Given the description of an element on the screen output the (x, y) to click on. 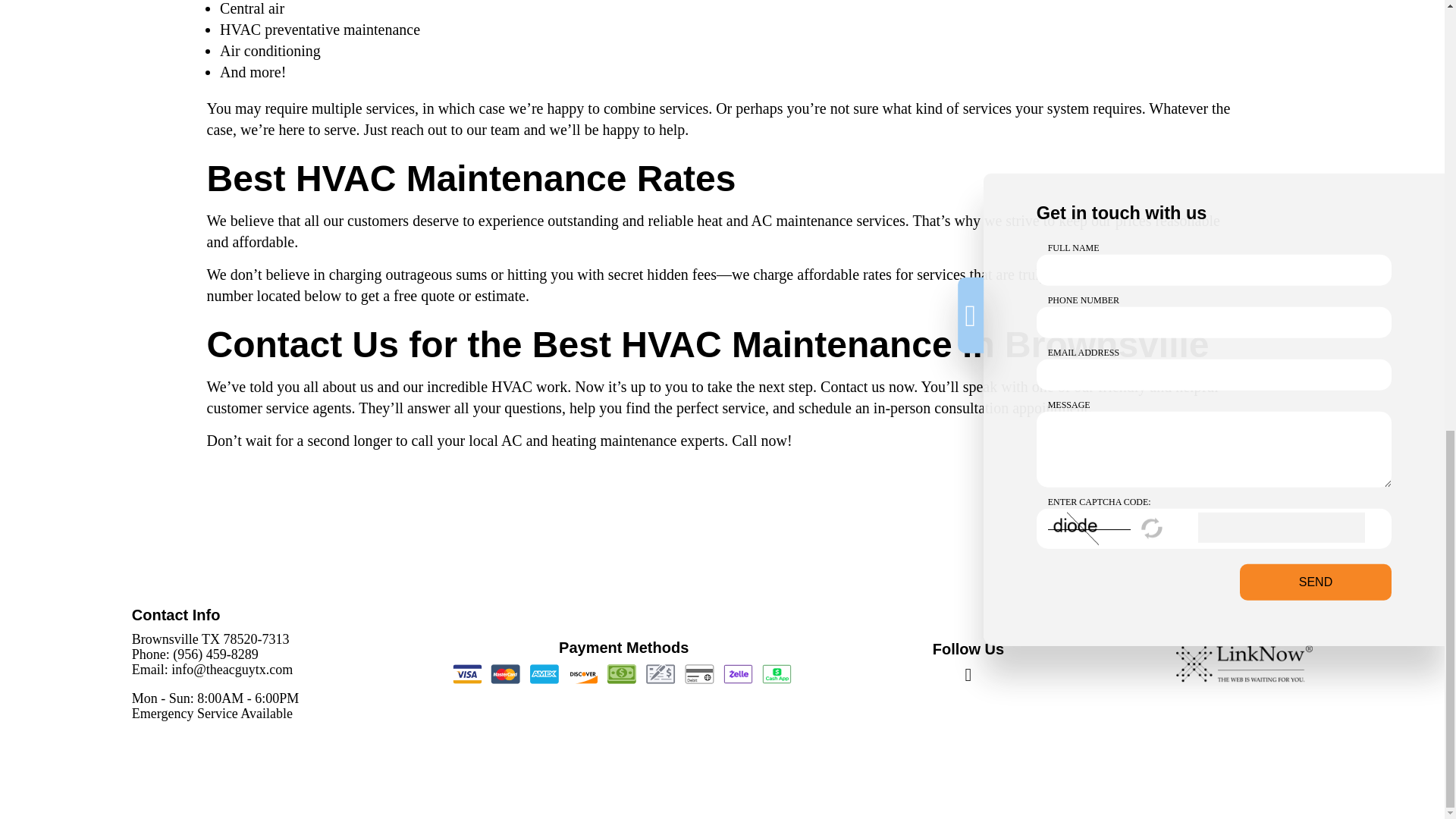
American Express (544, 673)
Visa (467, 673)
Mastercard (505, 673)
Zelle (738, 673)
Cash App (776, 673)
Debit Card (698, 673)
Cash (621, 673)
Check (661, 673)
Discover (582, 673)
